Given the description of an element on the screen output the (x, y) to click on. 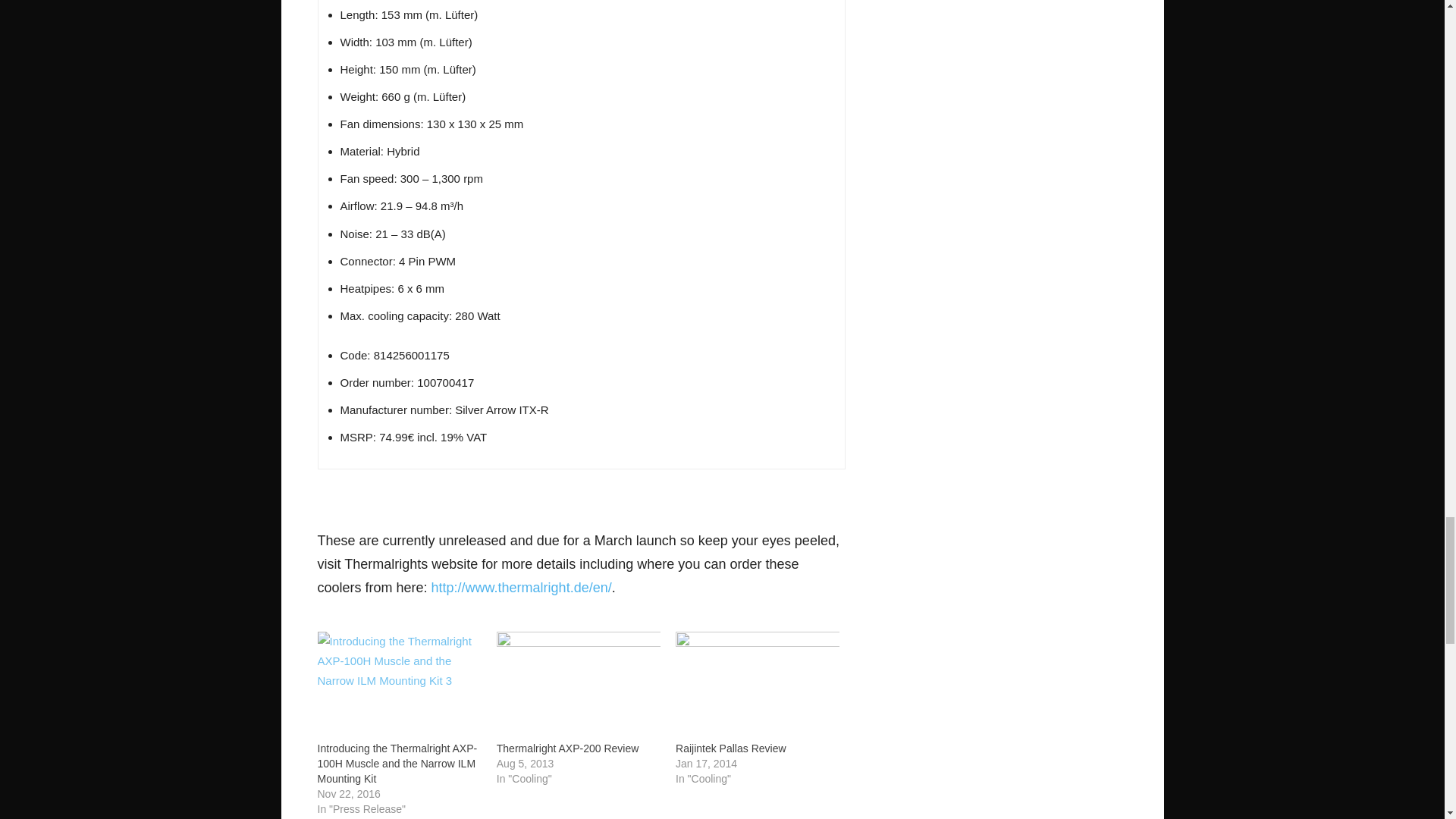
Raijintek Pallas Review (757, 677)
Thermalright AXP-200 Review (578, 677)
Thermalright AXP-200 Review (567, 748)
Raijintek Pallas Review (730, 748)
